Given the description of an element on the screen output the (x, y) to click on. 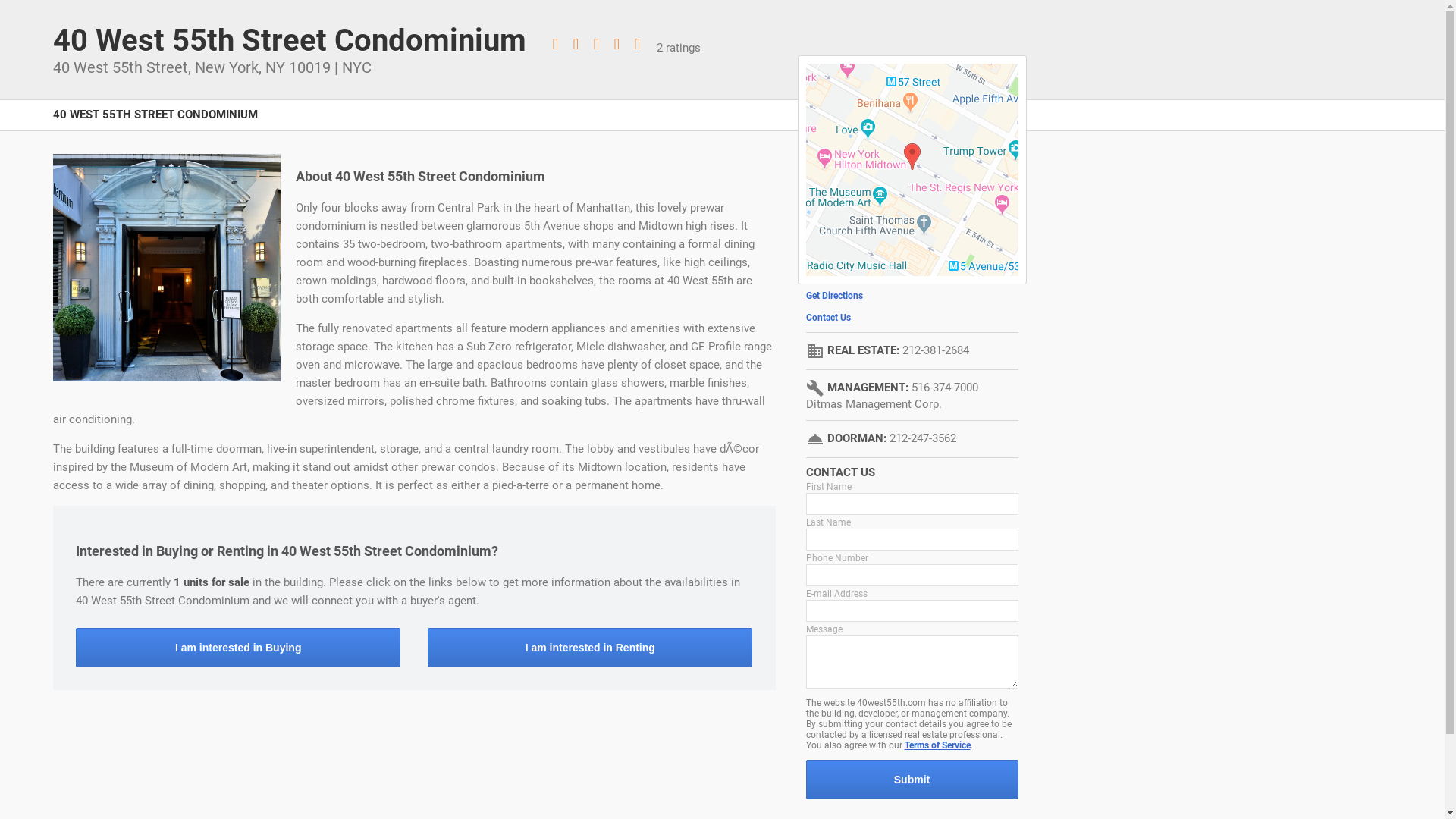
Submit Element type: text (911, 779)
Contact Us Element type: text (911, 317)
Terms of Service Element type: text (936, 745)
Get Directions Element type: text (911, 295)
40 WEST 55TH STREET CONDOMINIUM Element type: text (155, 122)
I am interested in Buying Element type: text (237, 647)
I am interested in Renting Element type: text (589, 647)
